Given the description of an element on the screen output the (x, y) to click on. 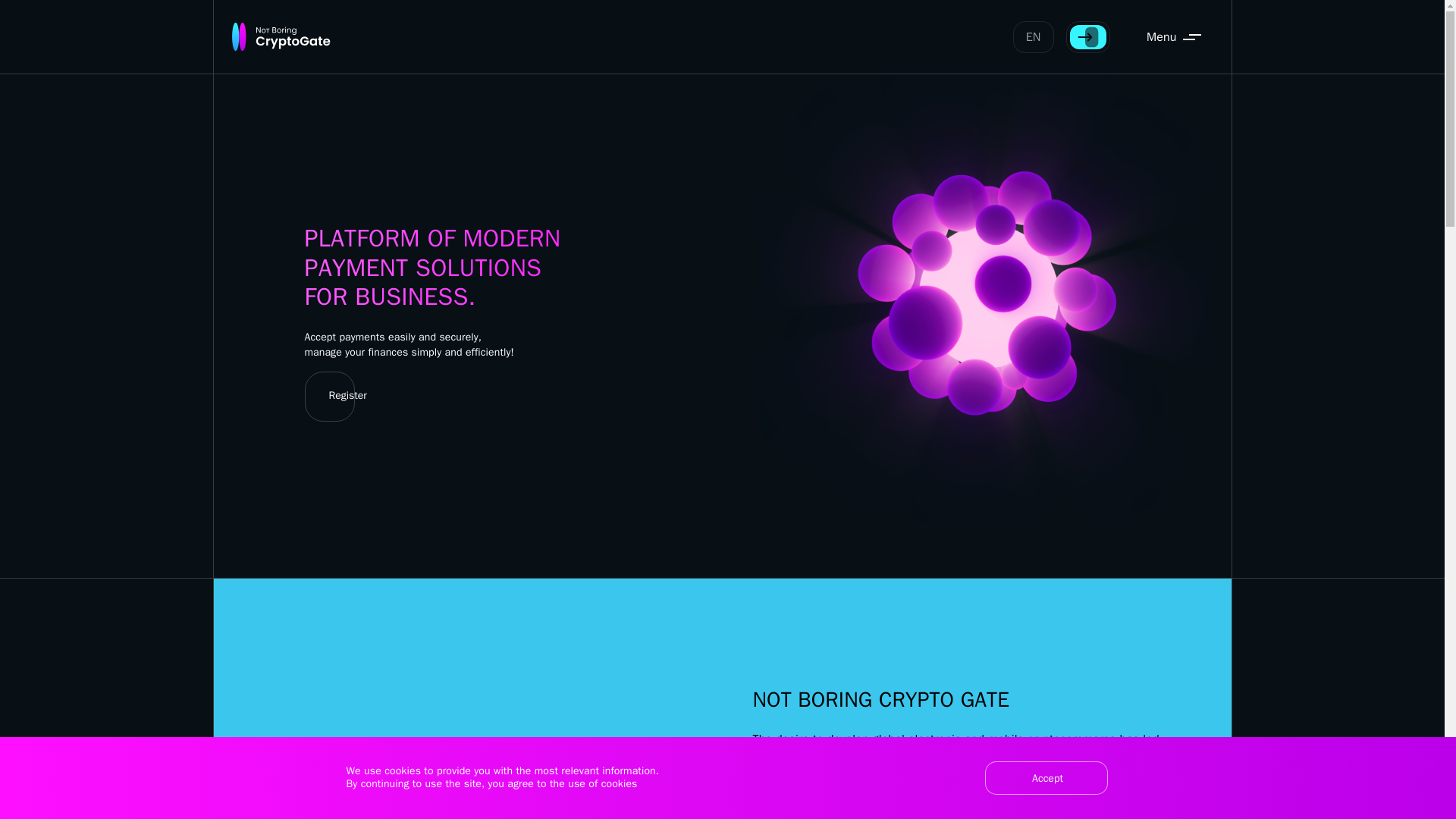
EN (1033, 37)
Register (342, 396)
